Given the description of an element on the screen output the (x, y) to click on. 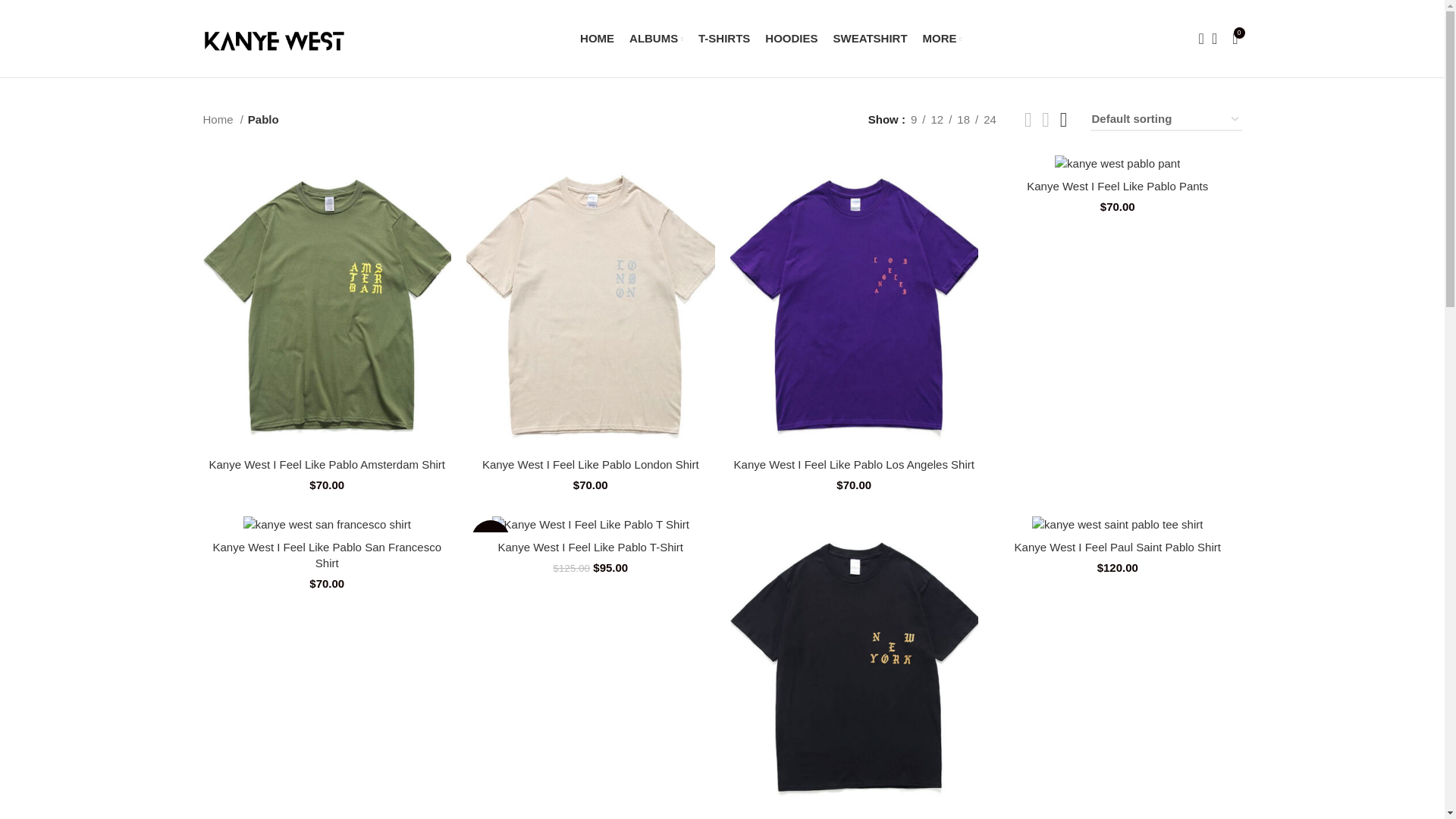
Kanye West I Feel Like Pablo Amsterdam Shirt (326, 463)
12 (936, 119)
24 (989, 119)
9 (913, 119)
HOME (596, 38)
SWEATSHIRT (869, 38)
Home (223, 119)
T-SHIRTS (723, 38)
MORE (942, 38)
HOODIES (790, 38)
18 (963, 119)
ALBUMS (655, 38)
